Given the description of an element on the screen output the (x, y) to click on. 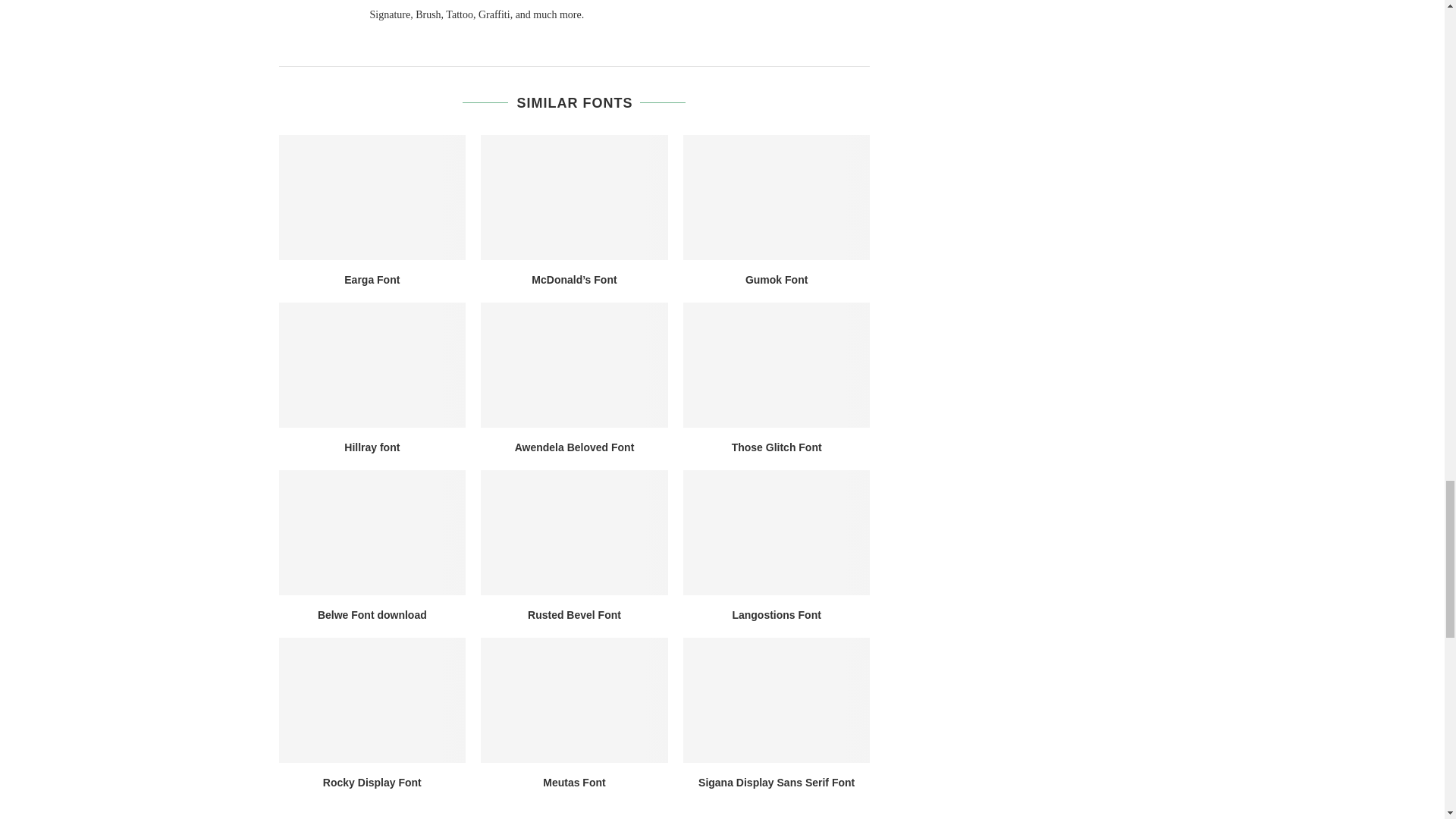
Earga Font (372, 197)
Awendela Beloved Font (574, 364)
Belwe Font download (372, 532)
Those Glitch Font (776, 364)
Hillray font (372, 364)
Gumok Font (776, 197)
Rusted Bevel Font (574, 532)
